Given the description of an element on the screen output the (x, y) to click on. 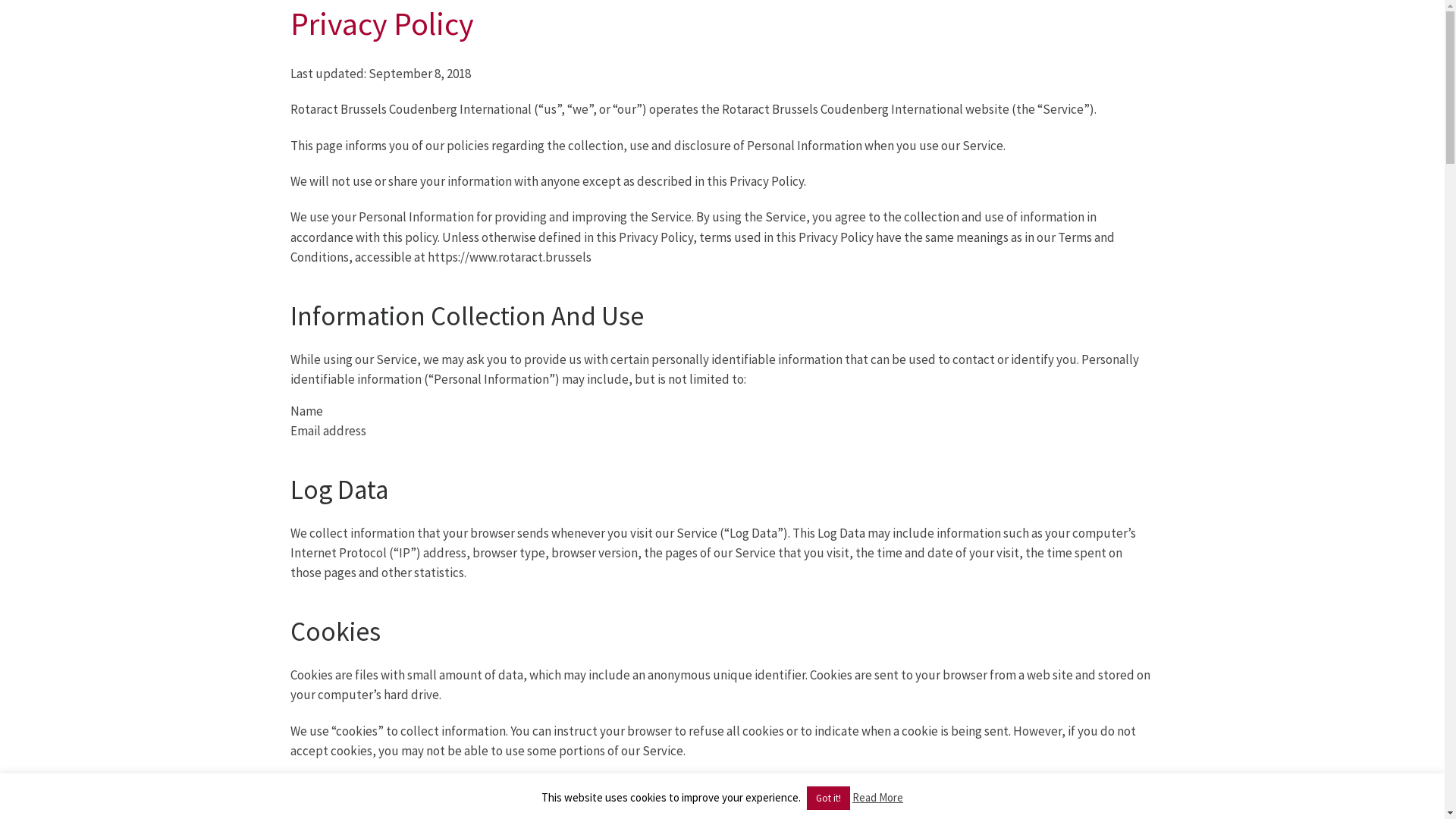
Got it! Element type: text (828, 797)
Read More Element type: text (877, 797)
